Given the description of an element on the screen output the (x, y) to click on. 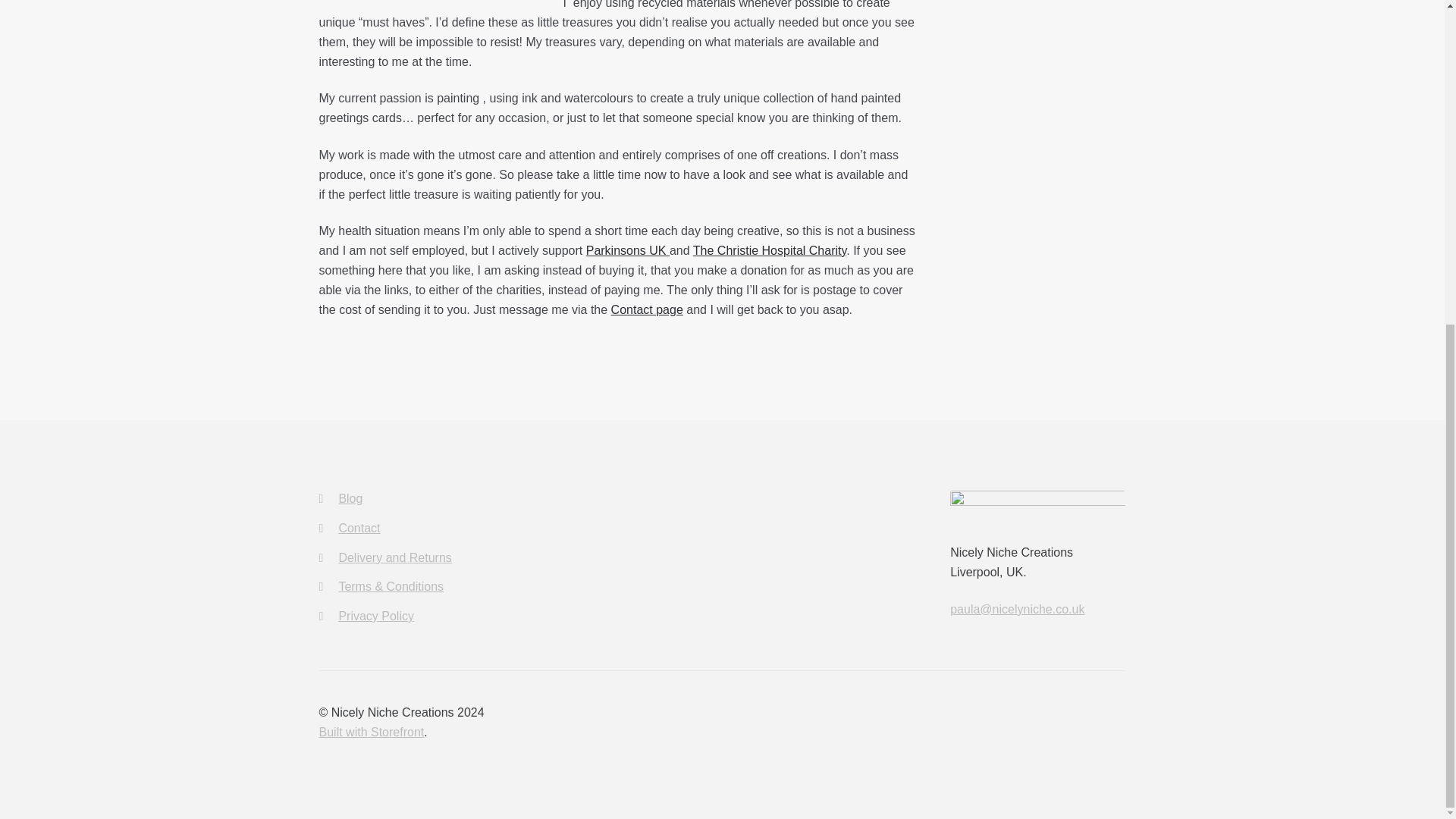
Delivery and Returns (394, 557)
Parkinsons UK (627, 250)
Built with Storefront (371, 731)
Contact (358, 527)
Blog (349, 498)
Privacy Policy (375, 615)
istie Hospital Charity (791, 250)
The Chr (714, 250)
Contact page (646, 309)
